Given the description of an element on the screen output the (x, y) to click on. 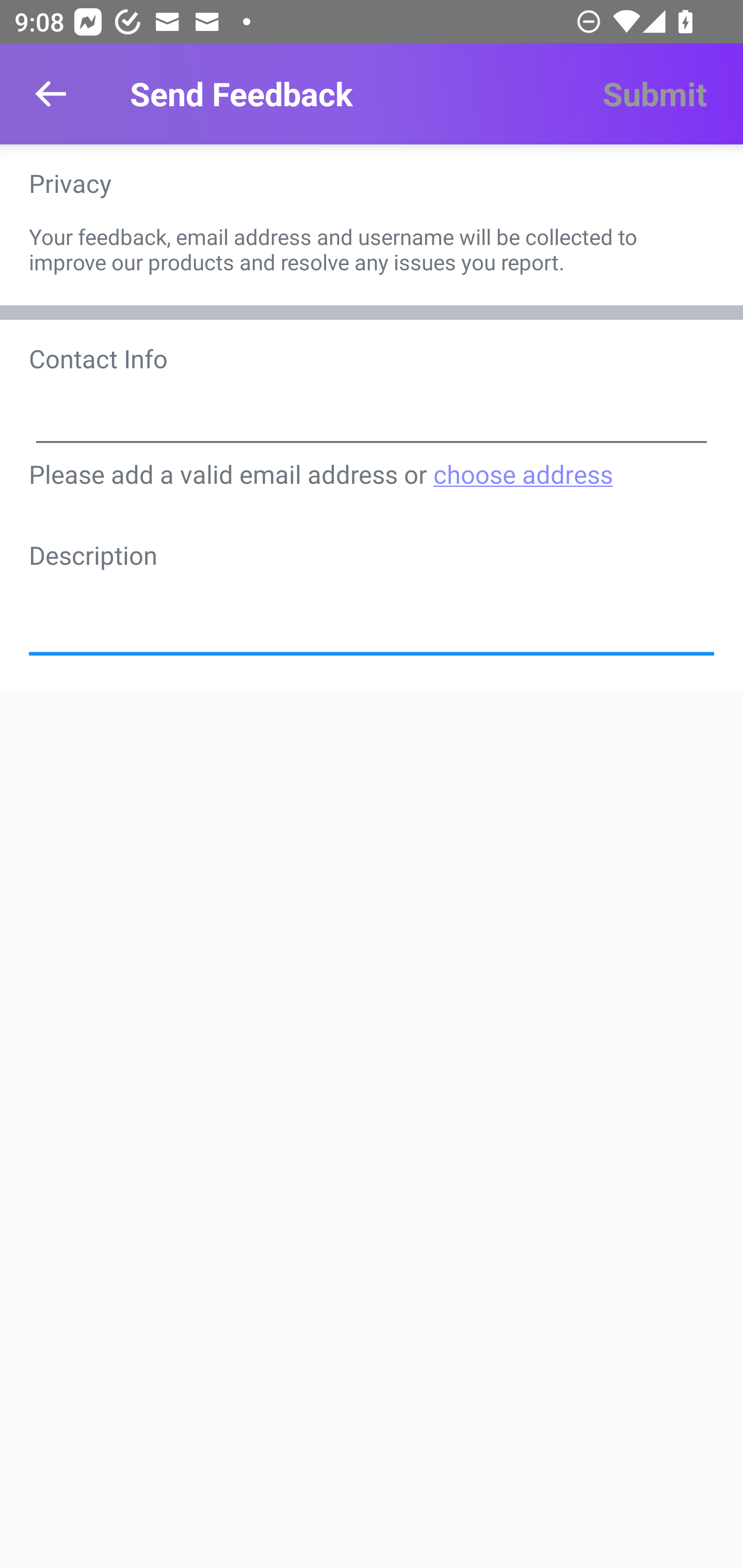
Navigate up (50, 93)
Submit (654, 94)
choose address (522, 473)
feedback (371, 608)
